Given the description of an element on the screen output the (x, y) to click on. 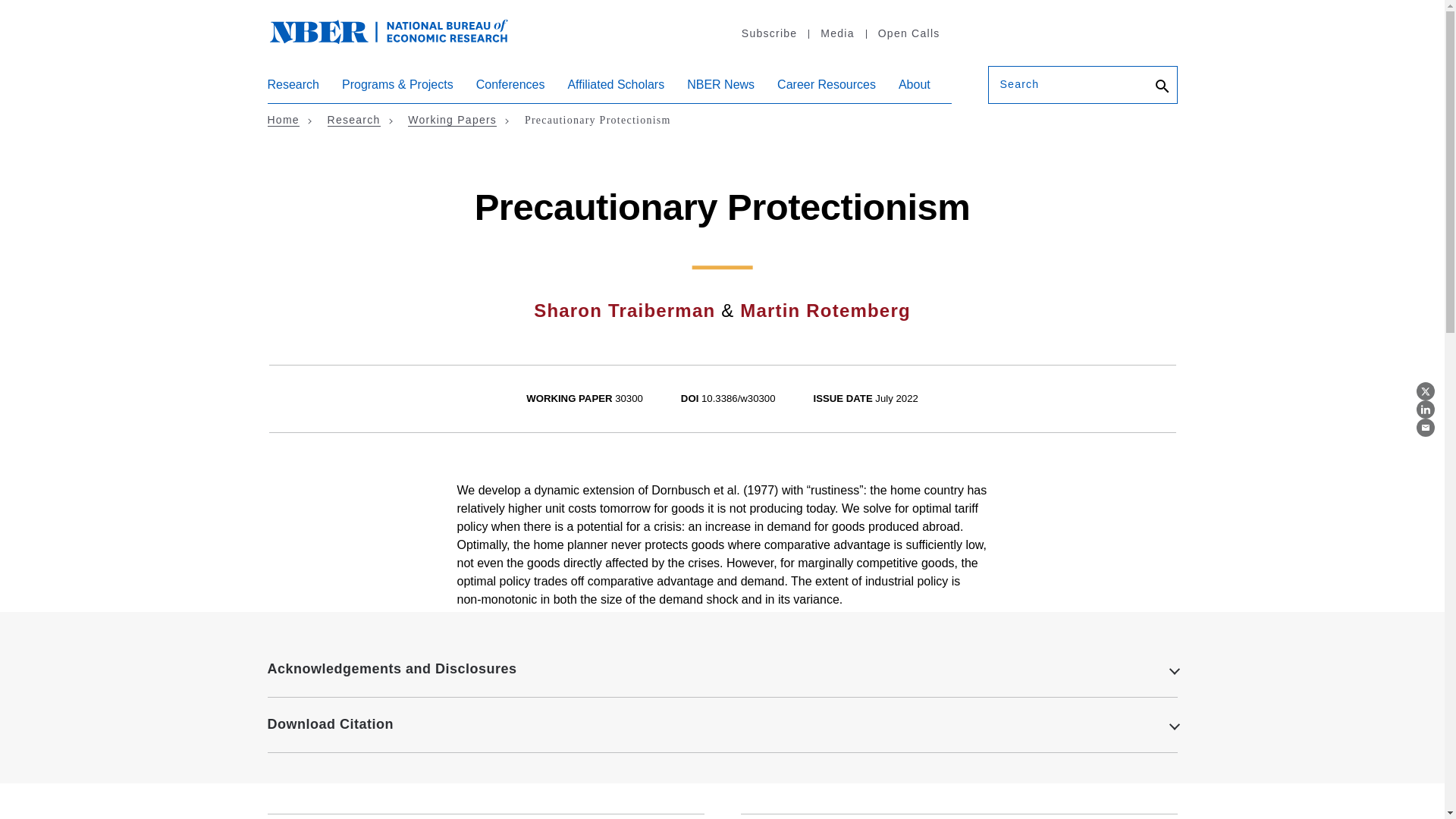
NBER: National Bureau of Economic Research (387, 31)
NBER: National Bureau of Economic Research (400, 39)
Subscribe (769, 33)
Open Calls (909, 33)
LinkedIn (1425, 409)
Twitter (1425, 391)
Media (836, 33)
Email (1425, 427)
Research (292, 90)
